Given the description of an element on the screen output the (x, y) to click on. 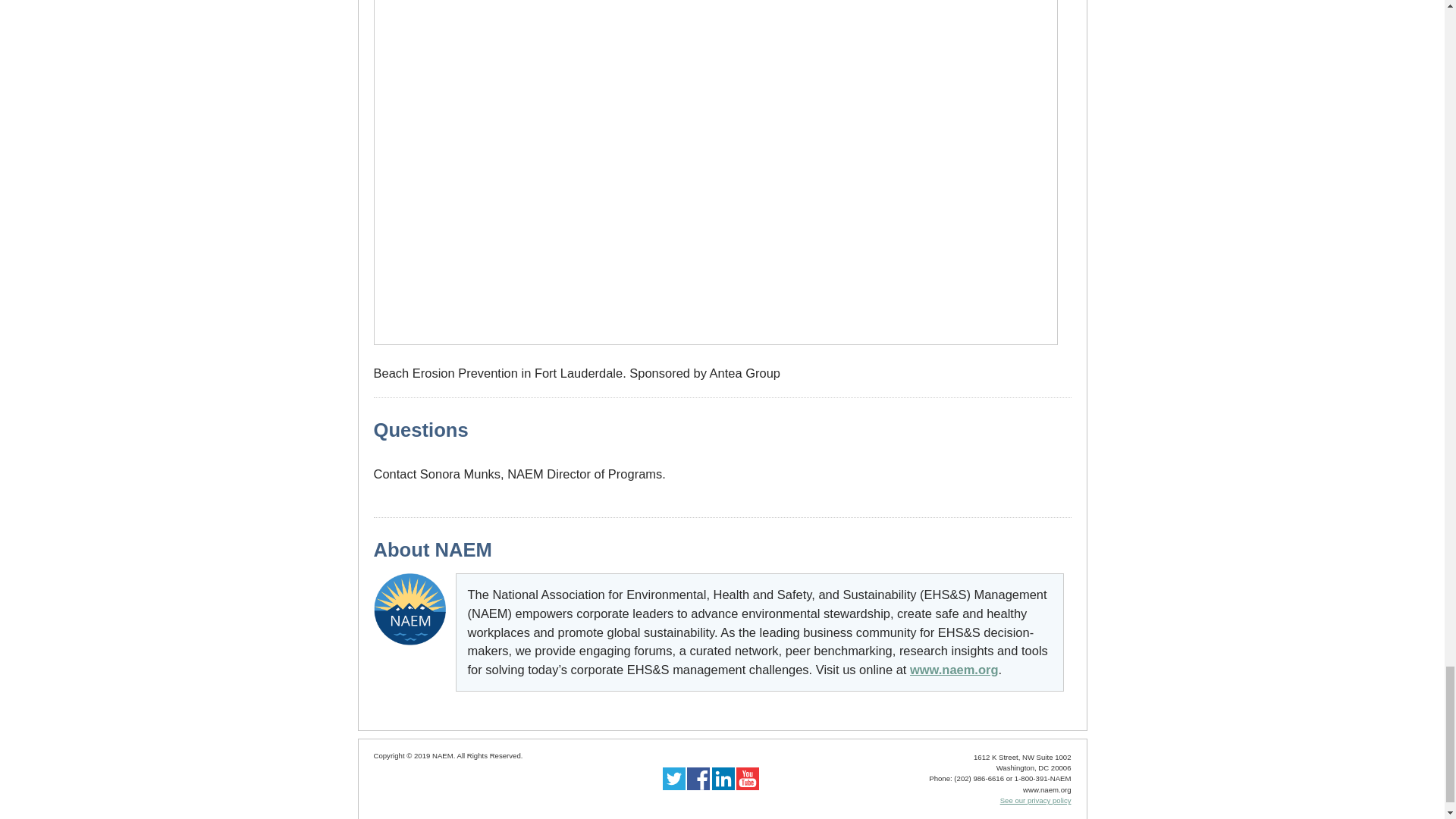
www.NAEM.org homepage (408, 646)
NAEMorgTV (747, 786)
www.naem.org (954, 669)
NAEM Facebook (698, 786)
NAEM Twitter (673, 786)
See our privacy policy (1035, 800)
NAEM LinkedIn (723, 786)
NAEM logo (408, 609)
NAEM's Privacy Policy (1035, 800)
